Given the description of an element on the screen output the (x, y) to click on. 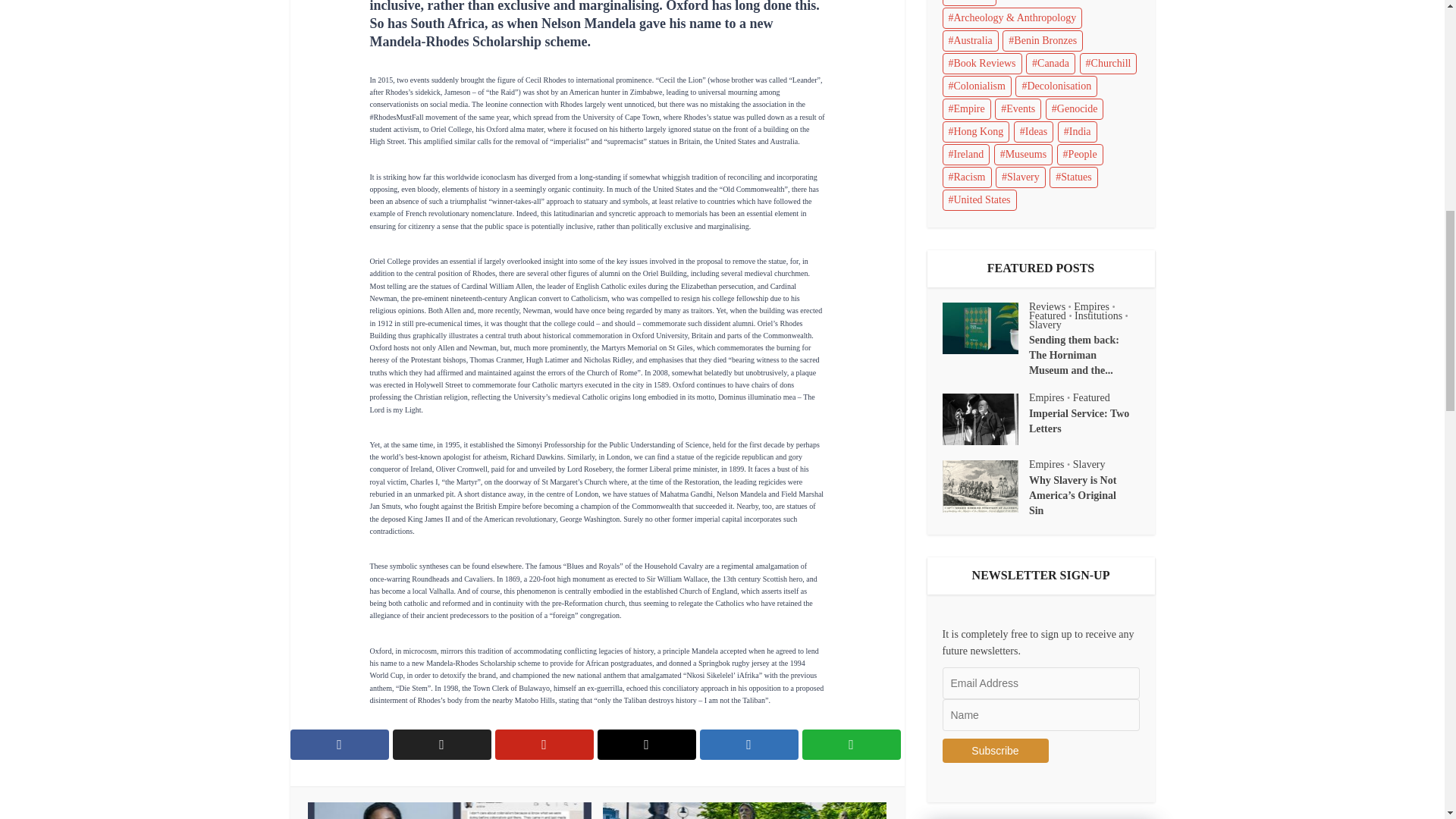
Subscribe (995, 750)
